Given the description of an element on the screen output the (x, y) to click on. 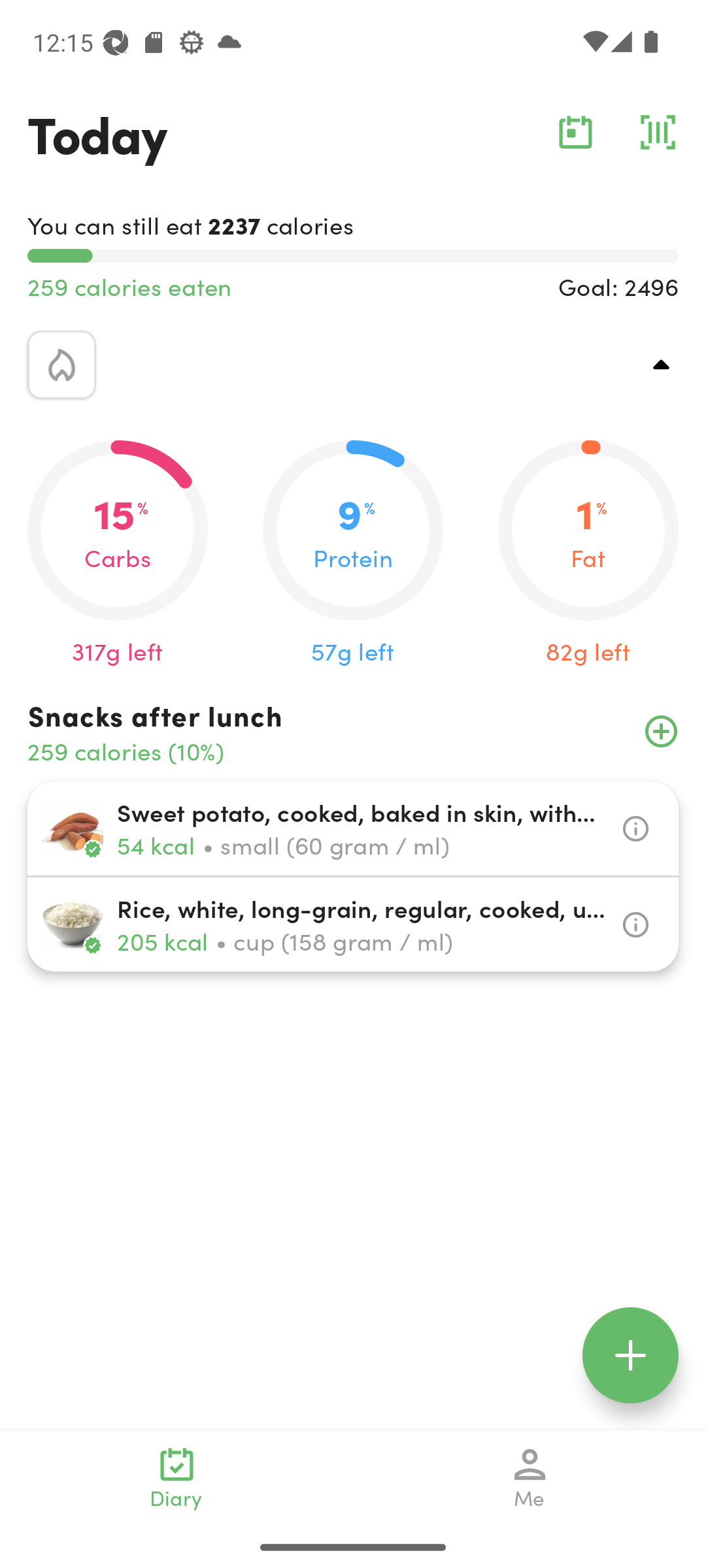
calendar_action (575, 132)
barcode_action (658, 132)
calorie_icon (62, 365)
top_right_action (661, 365)
0.15 15 % Carbs 317g left (117, 553)
0.09 9 % Protein 57g left (352, 553)
0.01 1 % Fat 82g left (588, 553)
info_icon (636, 828)
info_icon (636, 924)
floating_action_icon (630, 1355)
Me navigation_icon (529, 1478)
